Given the description of an element on the screen output the (x, y) to click on. 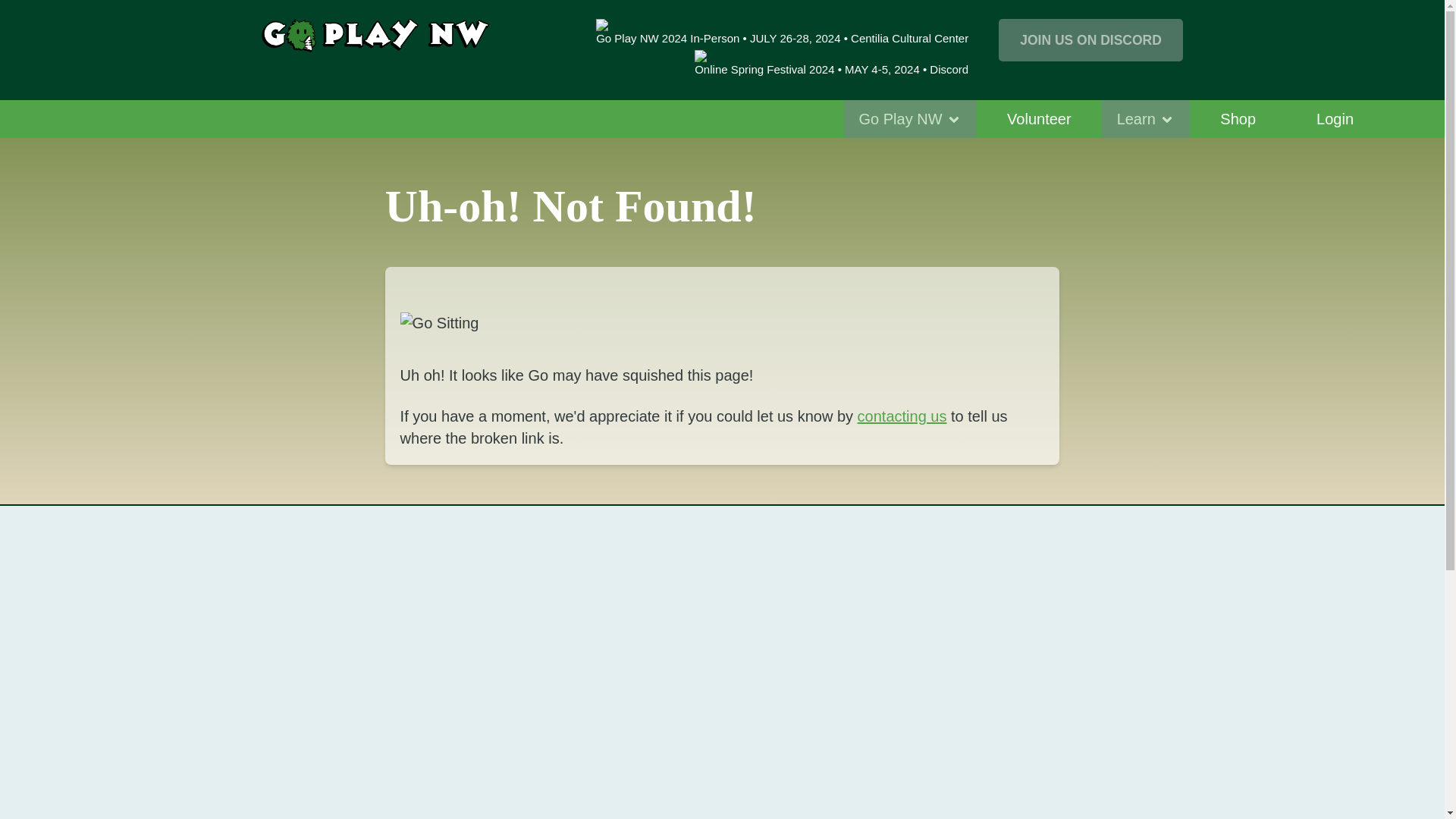
Learn (1146, 118)
Go Go Go! (716, 323)
Volunteer (1038, 118)
Shop (1238, 118)
JOIN US ON DISCORD (1090, 39)
Go Play NW (910, 118)
Login (1334, 118)
contacting us (902, 416)
